Given the description of an element on the screen output the (x, y) to click on. 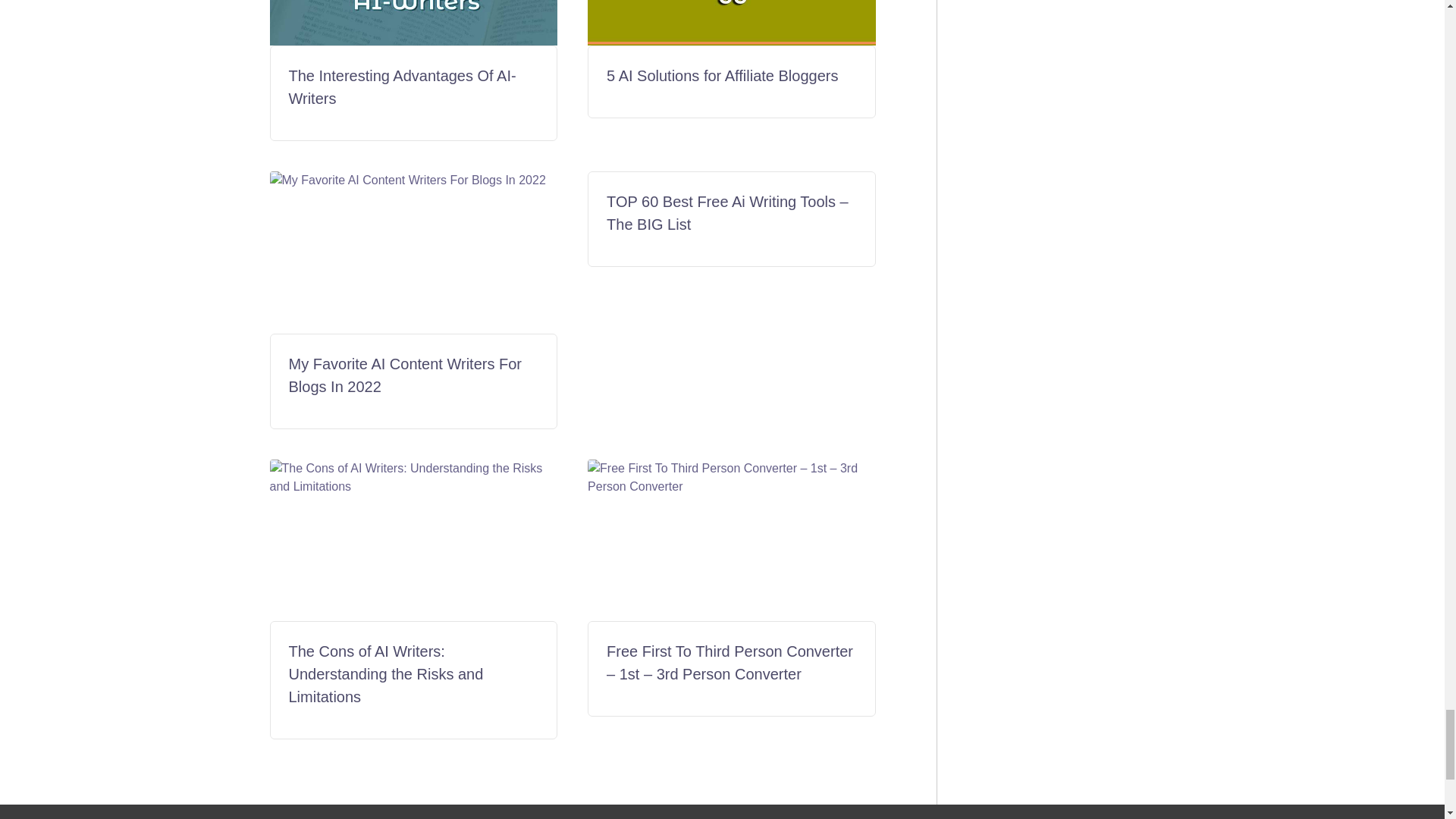
The Interesting Advantages Of AI-Writers (401, 87)
